Given the description of an element on the screen output the (x, y) to click on. 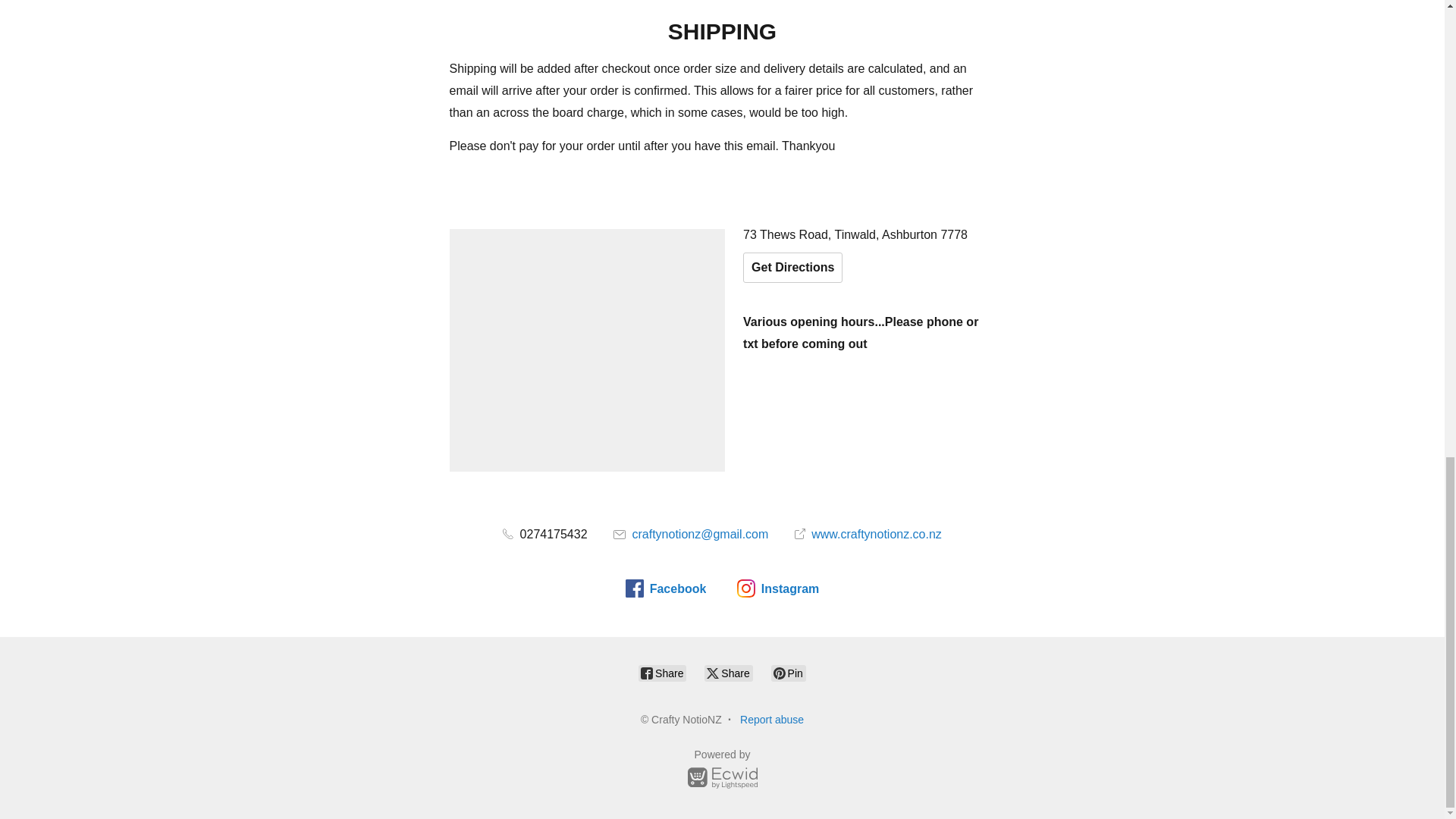
Location on map (586, 350)
Powered by (722, 771)
Share (662, 673)
Report abuse (771, 719)
www.craftynotionz.co.nz (868, 533)
Facebook (666, 588)
Share (728, 673)
Instagram (777, 588)
Pin (788, 673)
0274175432 (544, 533)
